Given the description of an element on the screen output the (x, y) to click on. 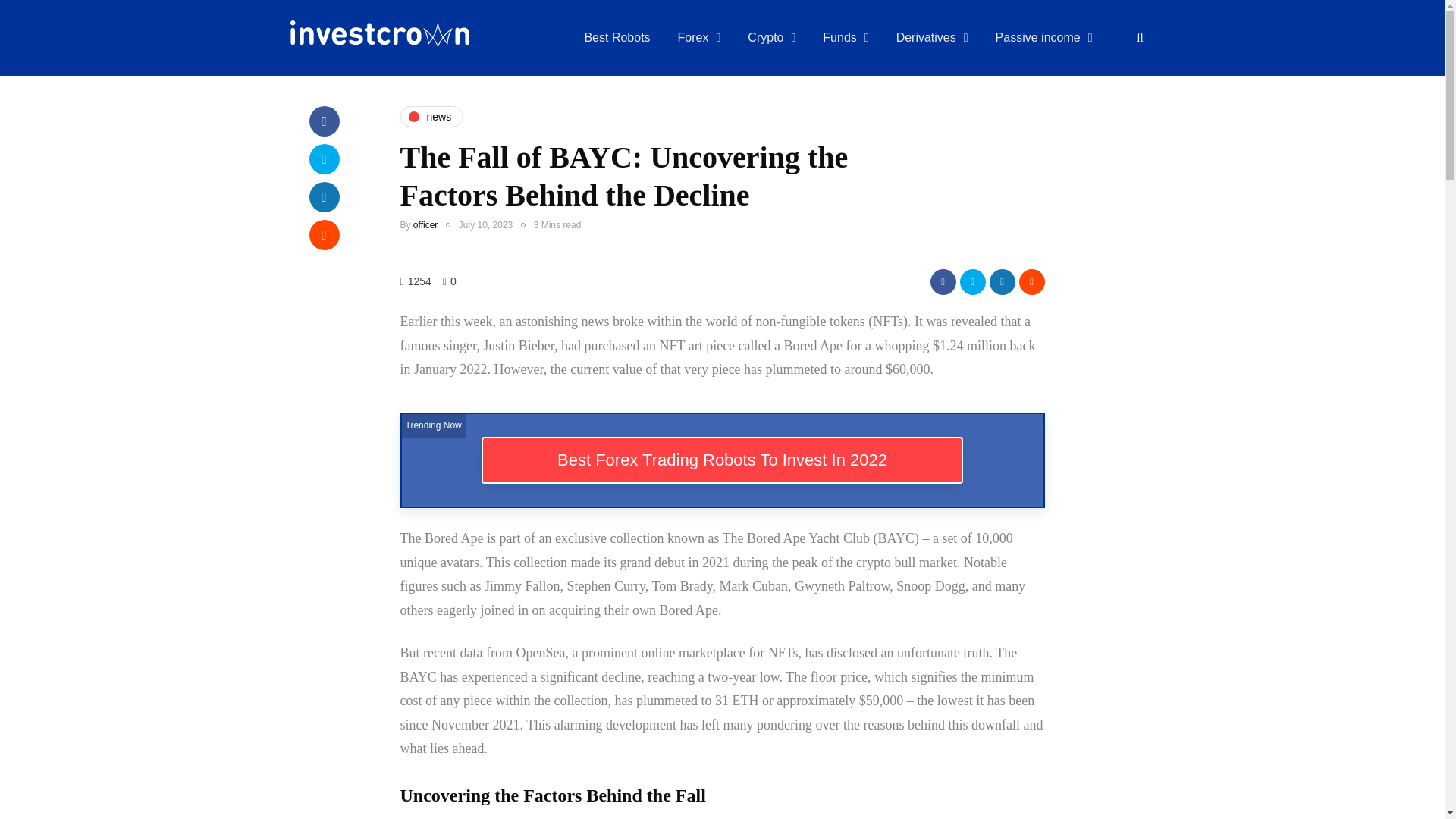
Forex (699, 37)
Funds (845, 37)
Share with LinkedIn (323, 196)
Best Robots (616, 37)
Share with LinkedIn (1001, 281)
Share on Reddit (1032, 281)
Passive income (1043, 37)
Posts by officer (425, 225)
Tweet this (972, 281)
Share with Facebook (323, 121)
Share with Facebook (942, 281)
Derivatives (931, 37)
Tweet this (323, 159)
Crypto (771, 37)
Share on Reddit (323, 235)
